Given the description of an element on the screen output the (x, y) to click on. 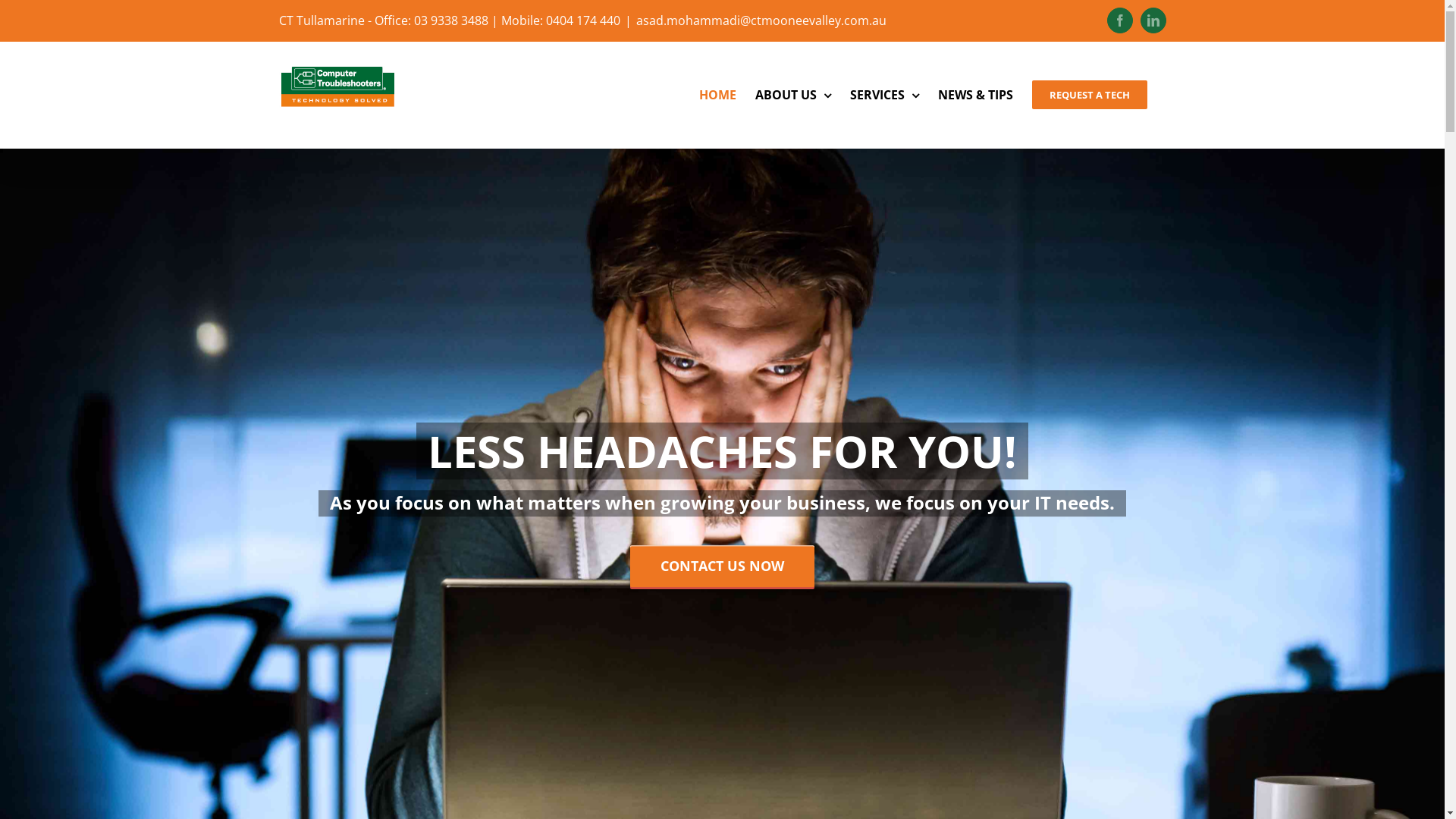
NEWS & TIPS Element type: text (974, 94)
ABOUT US Element type: text (793, 94)
HOME Element type: text (717, 94)
SERVICES Element type: text (883, 94)
CONTACT US NOW Element type: text (722, 565)
LinkedIn Element type: text (1153, 20)
asad.mohammadi@ctmooneevalley.com.au Element type: text (760, 20)
REQUEST A TECH Element type: text (1088, 94)
Facebook Element type: text (1119, 20)
